Given the description of an element on the screen output the (x, y) to click on. 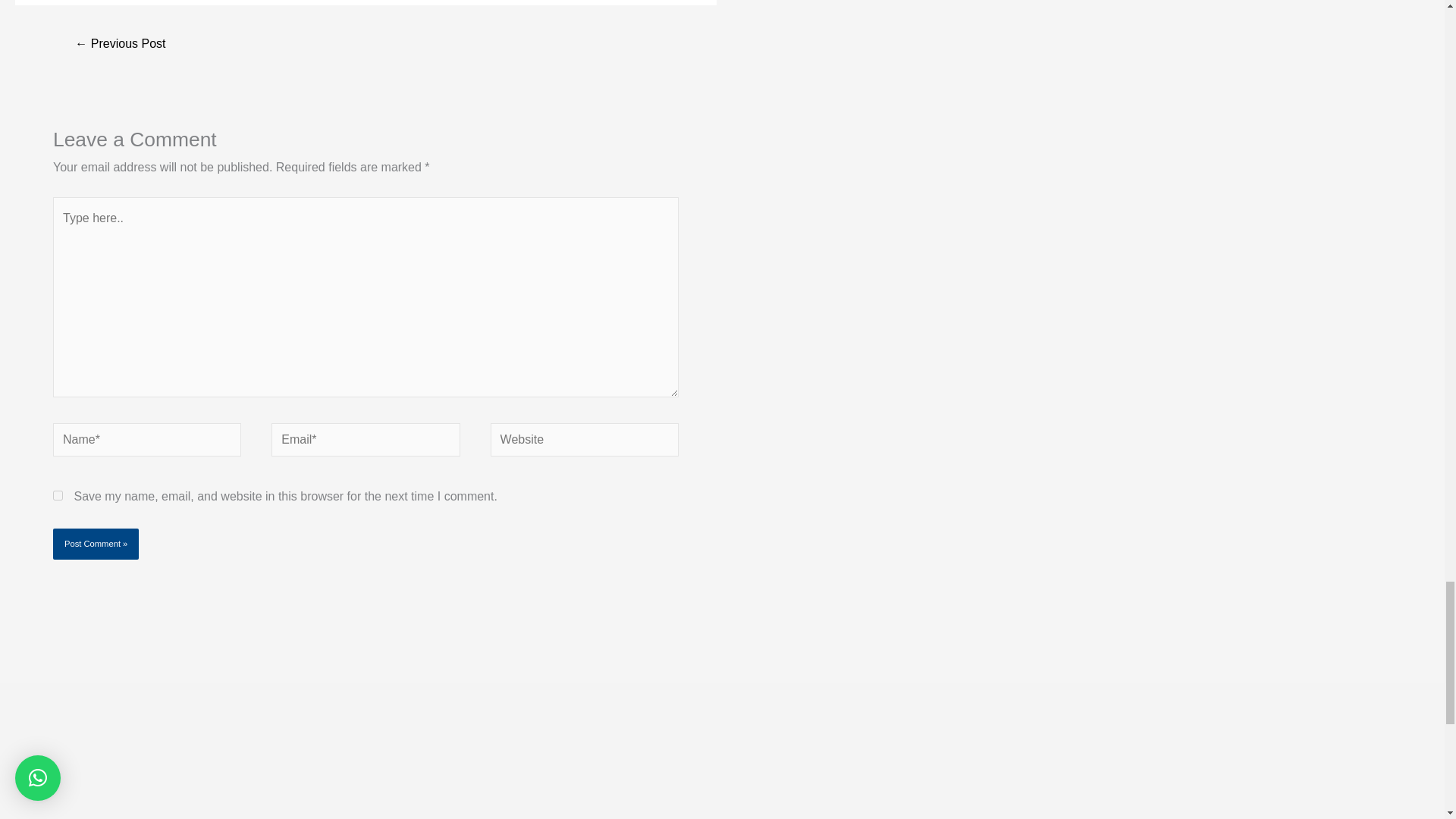
yes (57, 495)
